Given the description of an element on the screen output the (x, y) to click on. 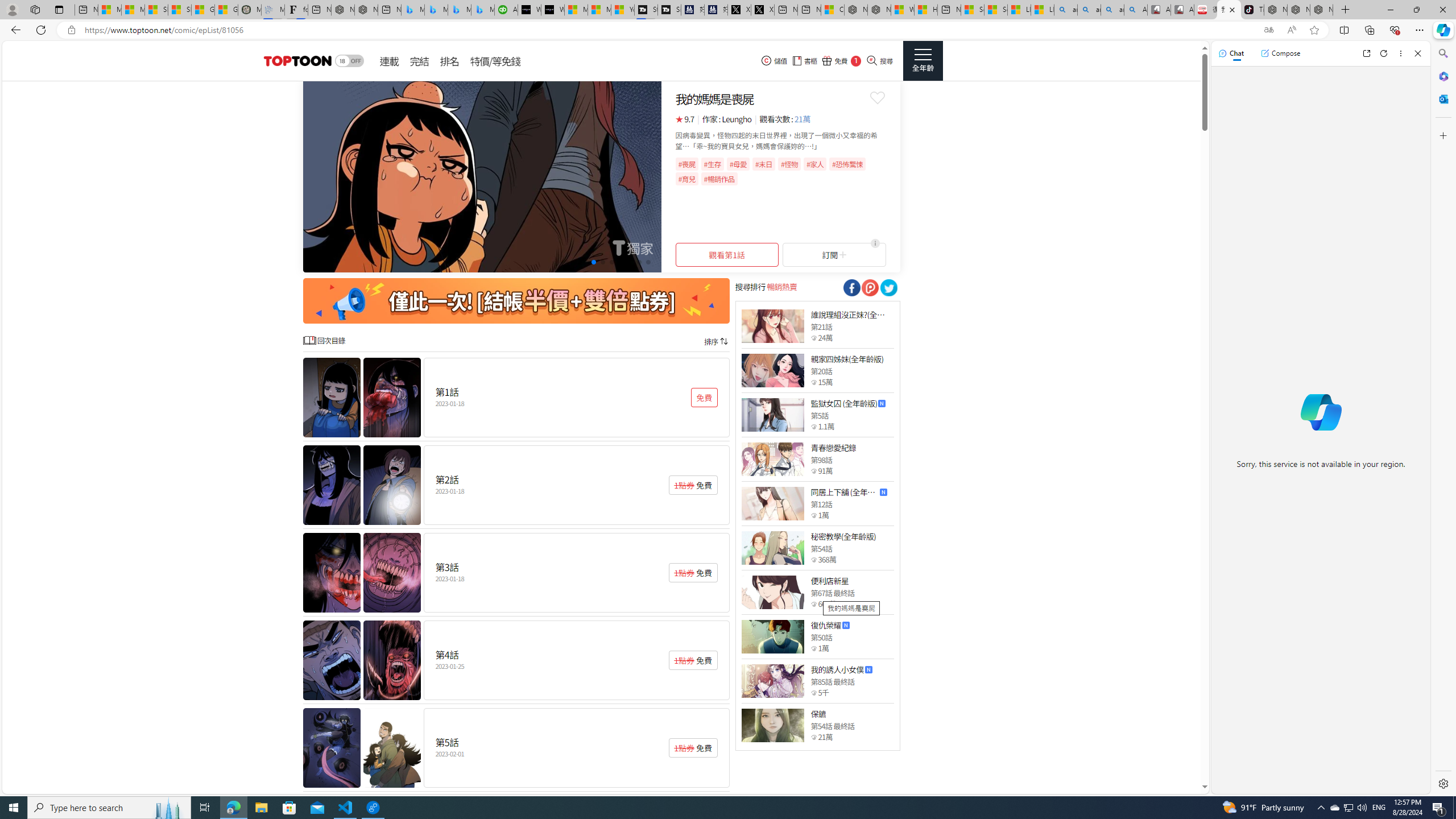
Class: swiper-slide swiper-slide-next (481, 176)
Nordace - Summer Adventures 2024 (879, 9)
X (761, 9)
Add this page to favorites (Ctrl+D) (1314, 29)
Browser essentials (1394, 29)
Minimize (1390, 9)
Class: epicon_starpoint (813, 736)
Class: swiper-slide swiper-slide-duplicate (481, 176)
Streaming Coverage | T3 (645, 9)
Go to slide 6 (611, 261)
New Tab (1346, 9)
